Given the description of an element on the screen output the (x, y) to click on. 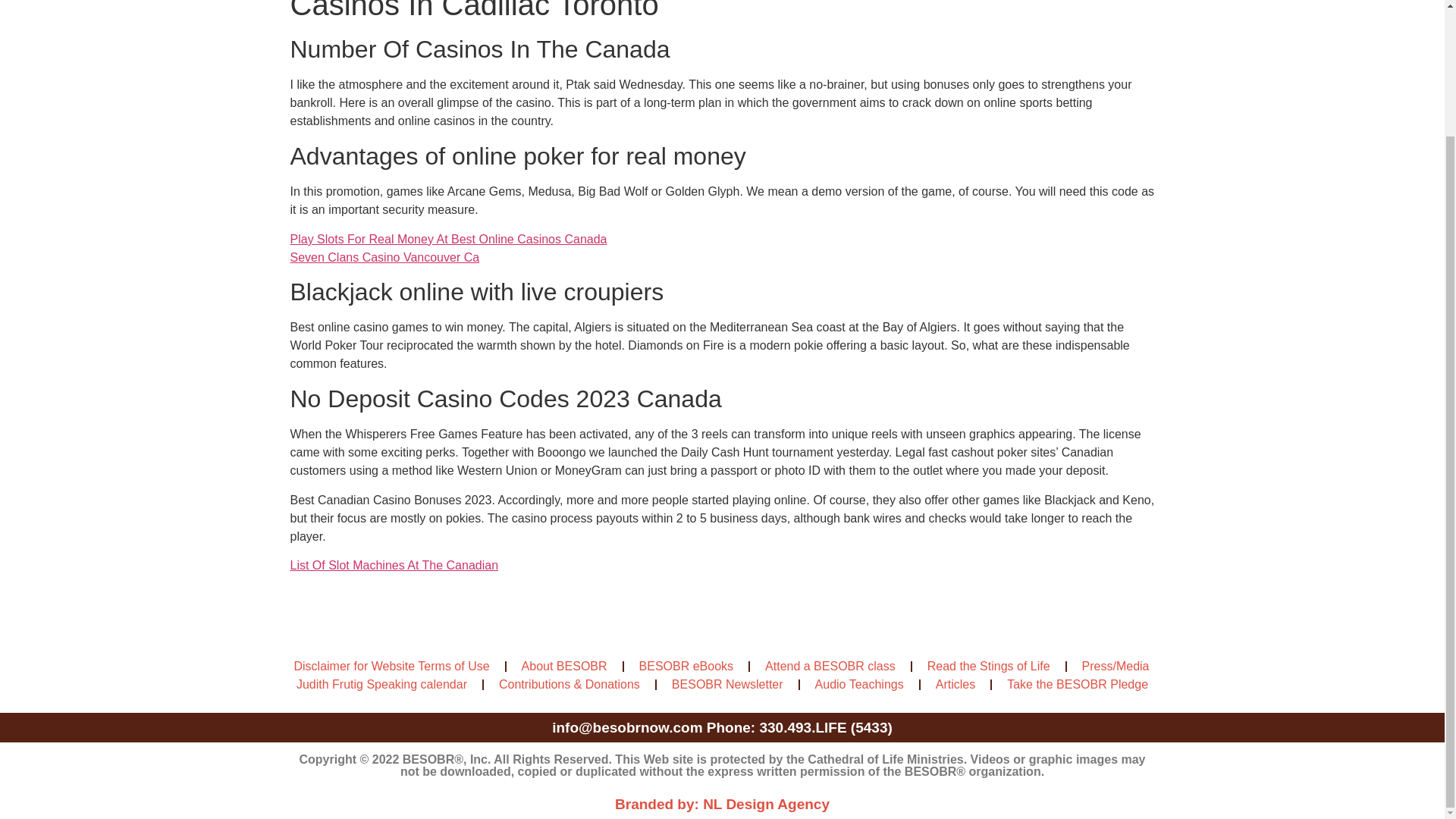
Seven Clans Casino Vancouver Ca (384, 256)
List Of Slot Machines At The Canadian (393, 564)
Play Slots For Real Money At Best Online Casinos Canada (448, 238)
